Given the description of an element on the screen output the (x, y) to click on. 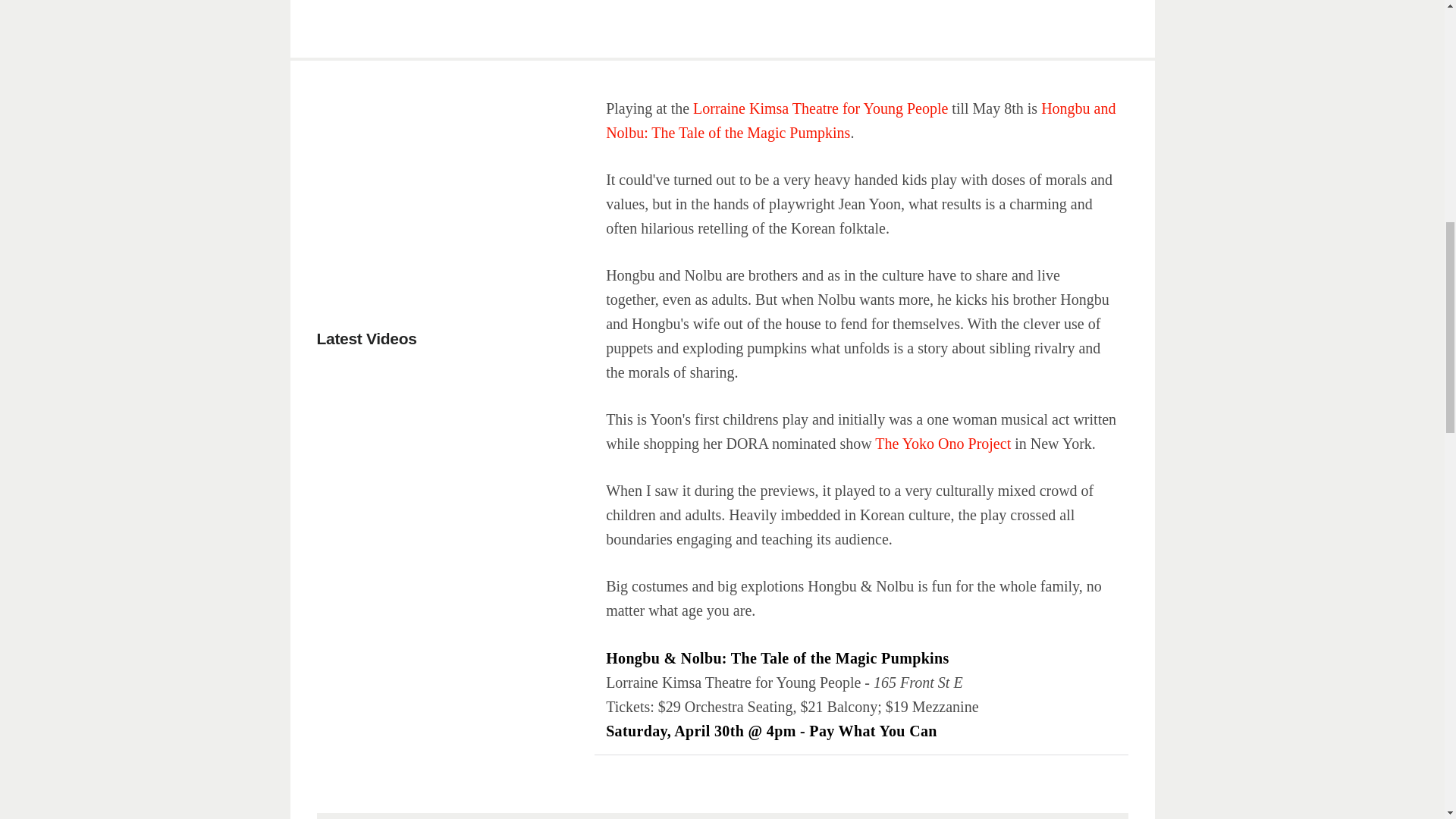
Hongbu and Nolbu: The Tale of the Magic Pumpkins (860, 119)
The Yoko Ono Project (942, 443)
Lorraine Kimsa Theatre for Young People (820, 108)
